Given the description of an element on the screen output the (x, y) to click on. 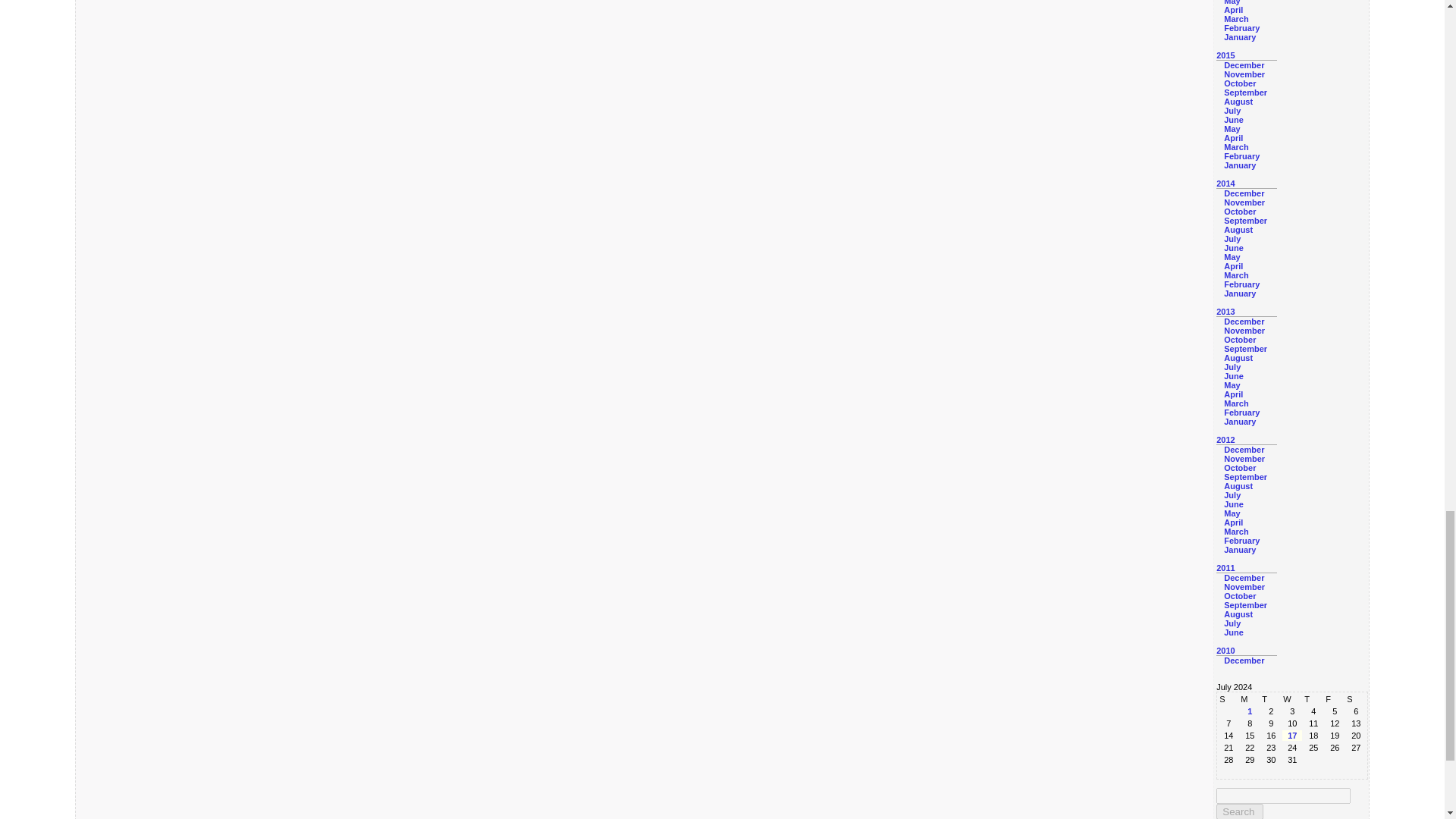
Friday (1333, 698)
Search  (1239, 811)
Sunday (1228, 698)
Wednesday (1291, 698)
Saturday (1355, 698)
Thursday (1313, 698)
Tuesday (1270, 698)
Monday (1249, 698)
